Given the description of an element on the screen output the (x, y) to click on. 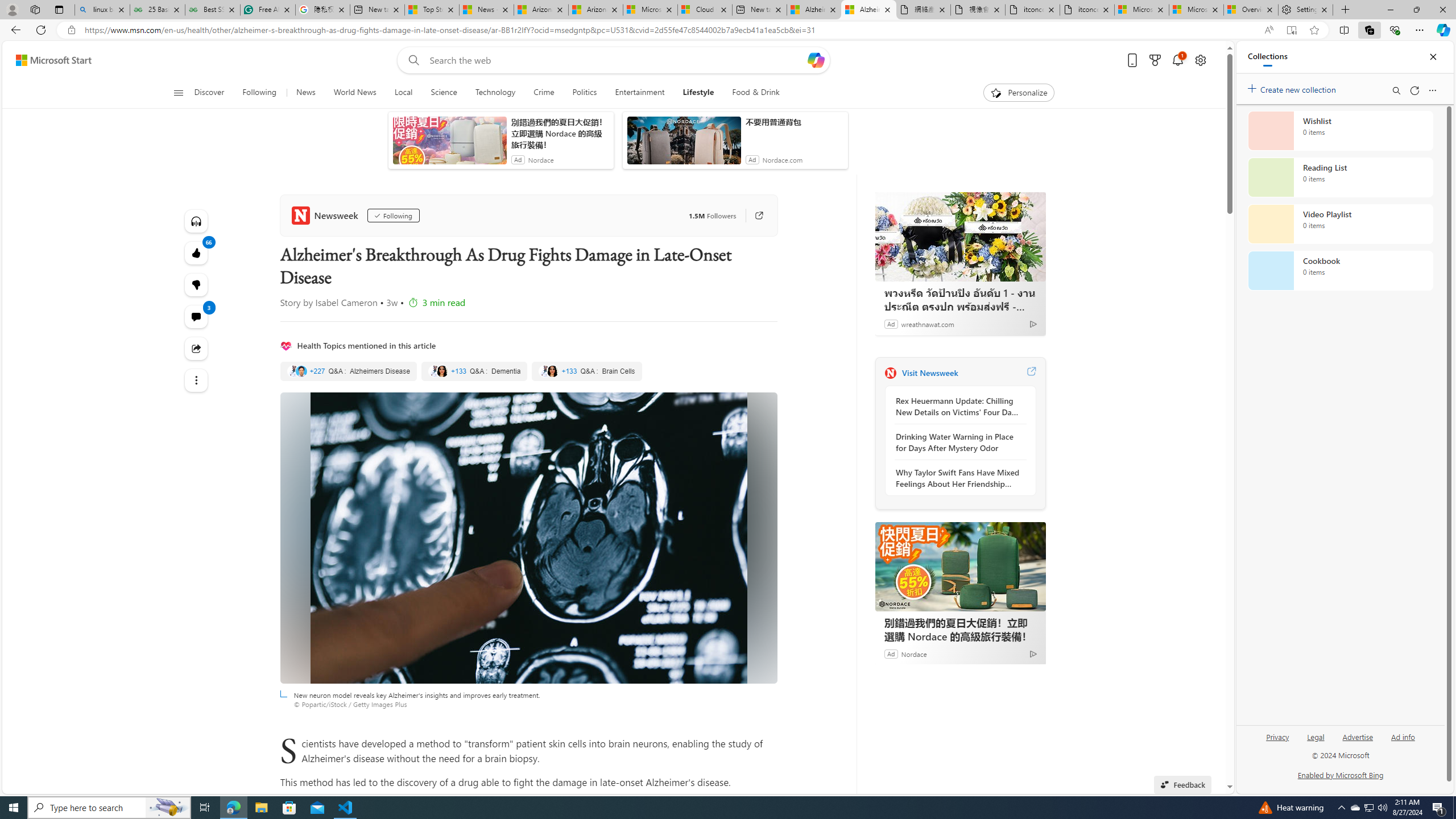
Class: quote-thumbnail (552, 371)
News - MSN (486, 9)
Share this story (196, 348)
anim-content (683, 144)
linux basic - Search (102, 9)
